Given the description of an element on the screen output the (x, y) to click on. 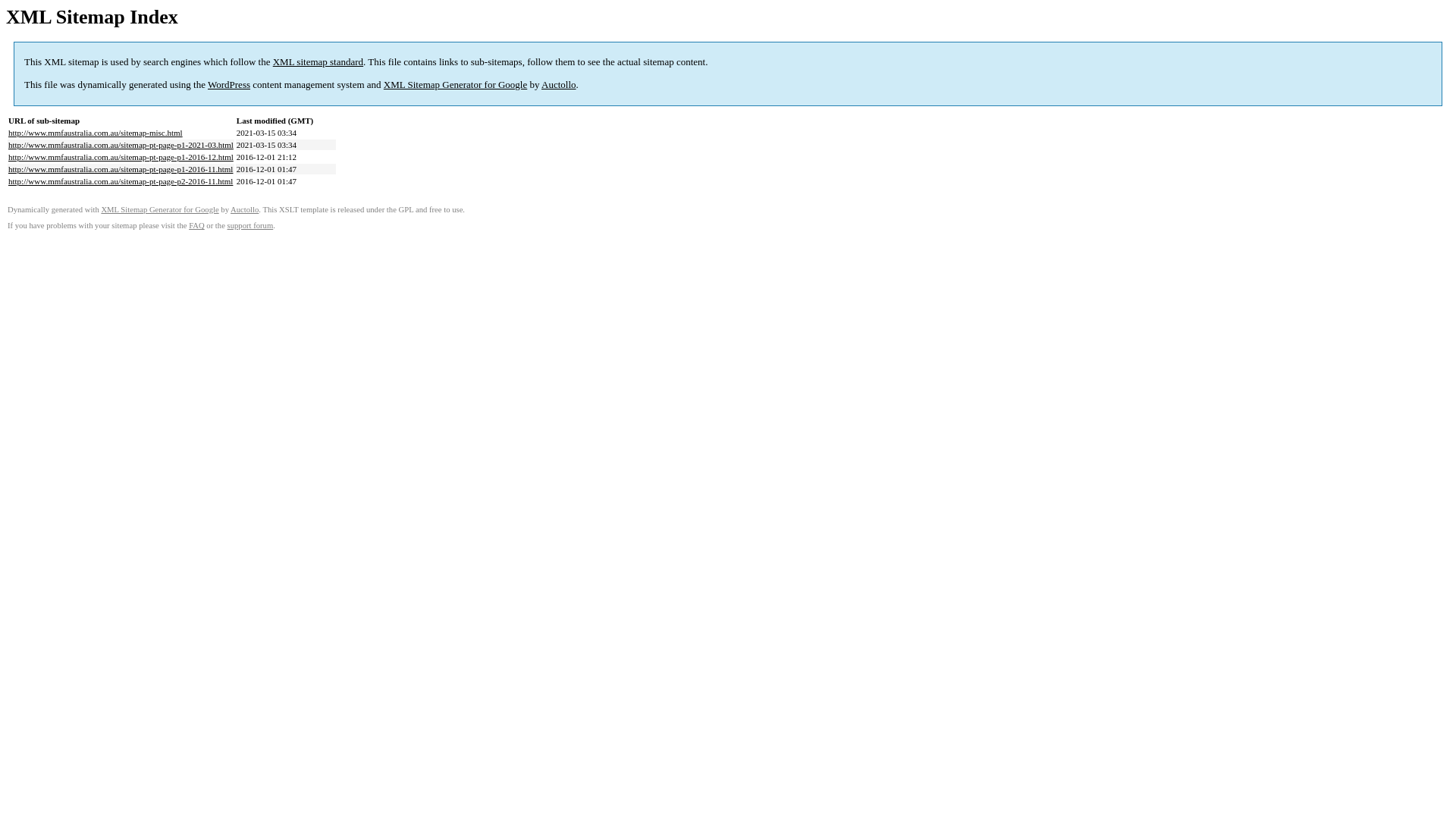
FAQ Element type: text (196, 225)
XML Sitemap Generator for Google Element type: text (159, 209)
support forum Element type: text (250, 225)
Auctollo Element type: text (558, 84)
WordPress Element type: text (228, 84)
XML Sitemap Generator for Google Element type: text (455, 84)
XML sitemap standard Element type: text (318, 61)
Auctollo Element type: text (244, 209)
http://www.mmfaustralia.com.au/sitemap-misc.html Element type: text (95, 132)
